Given the description of an element on the screen output the (x, y) to click on. 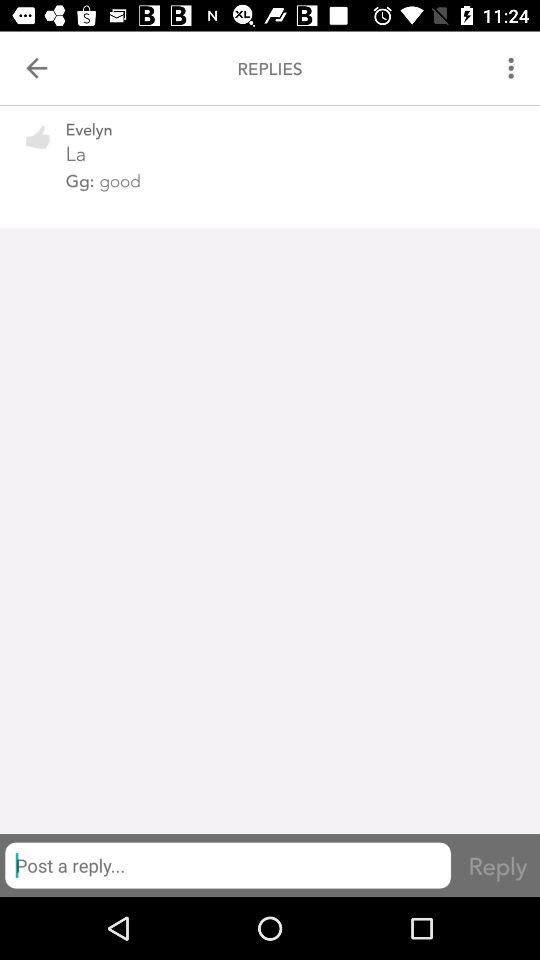
choose icon at the top right corner (513, 67)
